Given the description of an element on the screen output the (x, y) to click on. 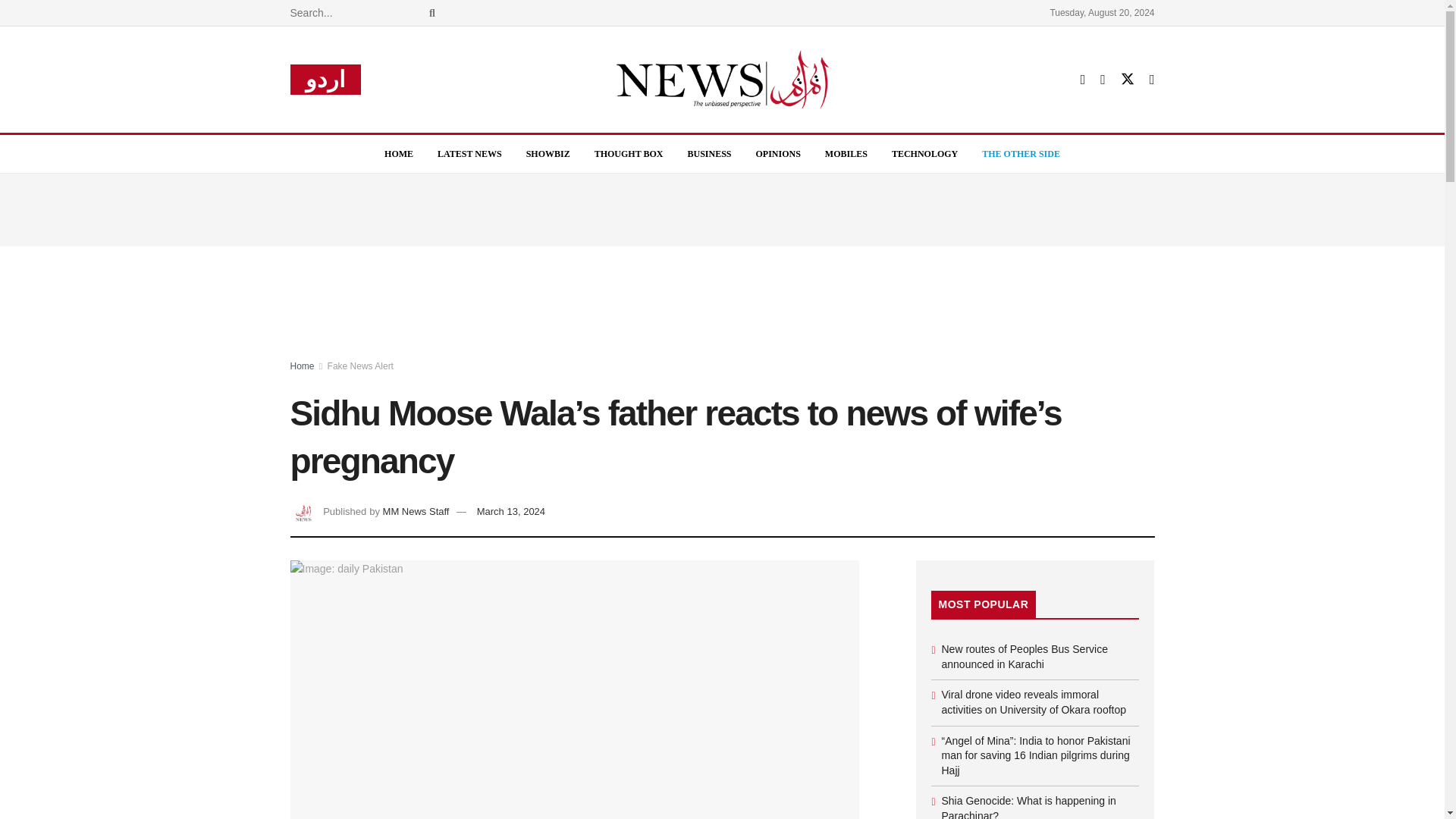
BUSINESS (708, 153)
THOUGHT BOX (628, 153)
HOME (398, 153)
OPINIONS (778, 153)
TECHNOLOGY (924, 153)
MOBILES (845, 153)
THE OTHER SIDE (1020, 153)
LATEST NEWS (469, 153)
SHOWBIZ (547, 153)
